Given the description of an element on the screen output the (x, y) to click on. 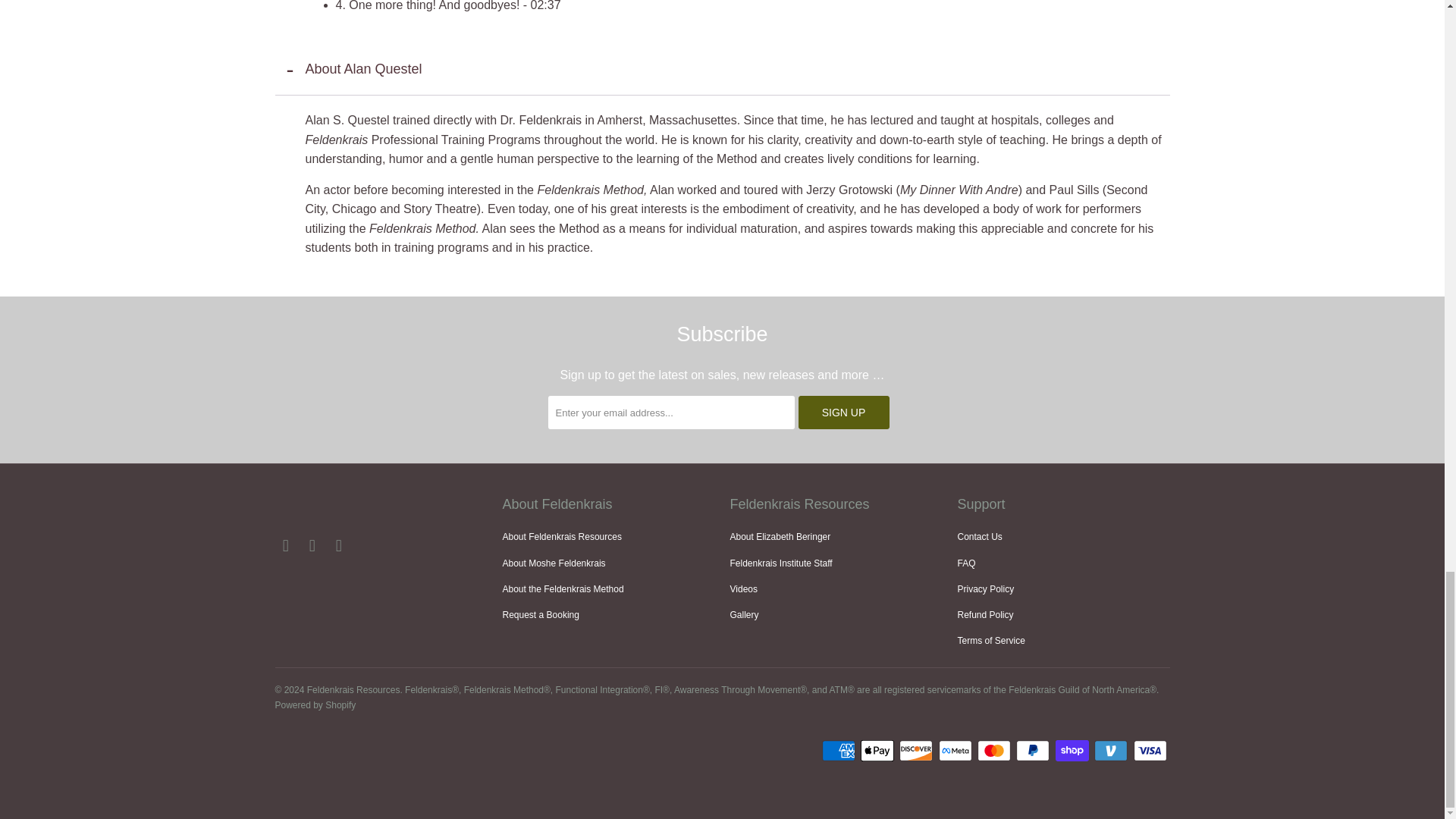
Shop Pay (1073, 750)
Feldenkrais Resources on Vimeo (312, 546)
PayPal (1034, 750)
Venmo (1112, 750)
Feldenkrais Resources on Instagram (339, 546)
American Express (840, 750)
Feldenkrais Resources on Facebook (286, 546)
Visa (1150, 750)
Sign Up (842, 412)
Apple Pay (878, 750)
